Given the description of an element on the screen output the (x, y) to click on. 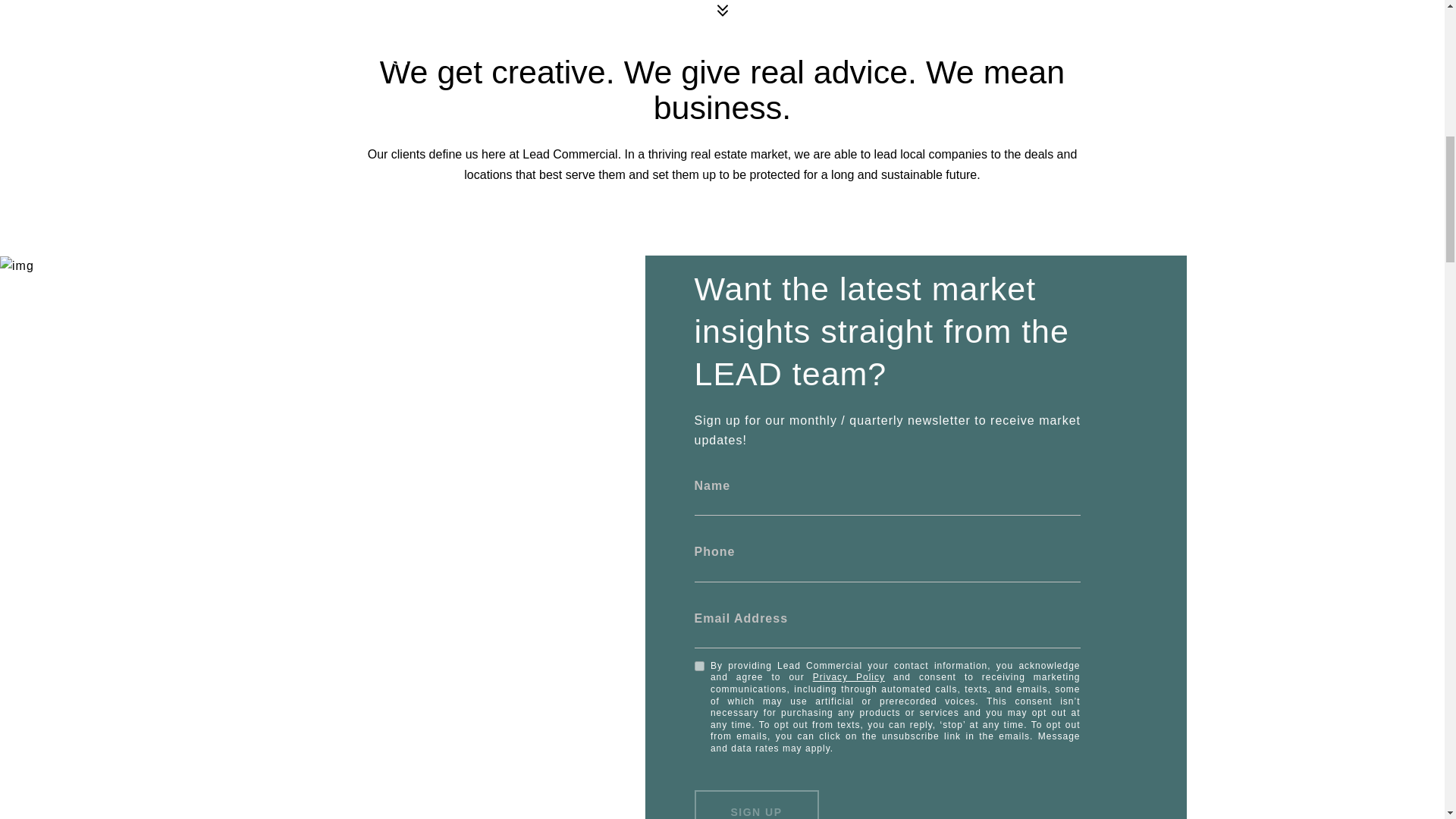
on (699, 665)
SIGN UP (756, 804)
SIGN UP (756, 804)
Privacy Policy (848, 676)
